Given the description of an element on the screen output the (x, y) to click on. 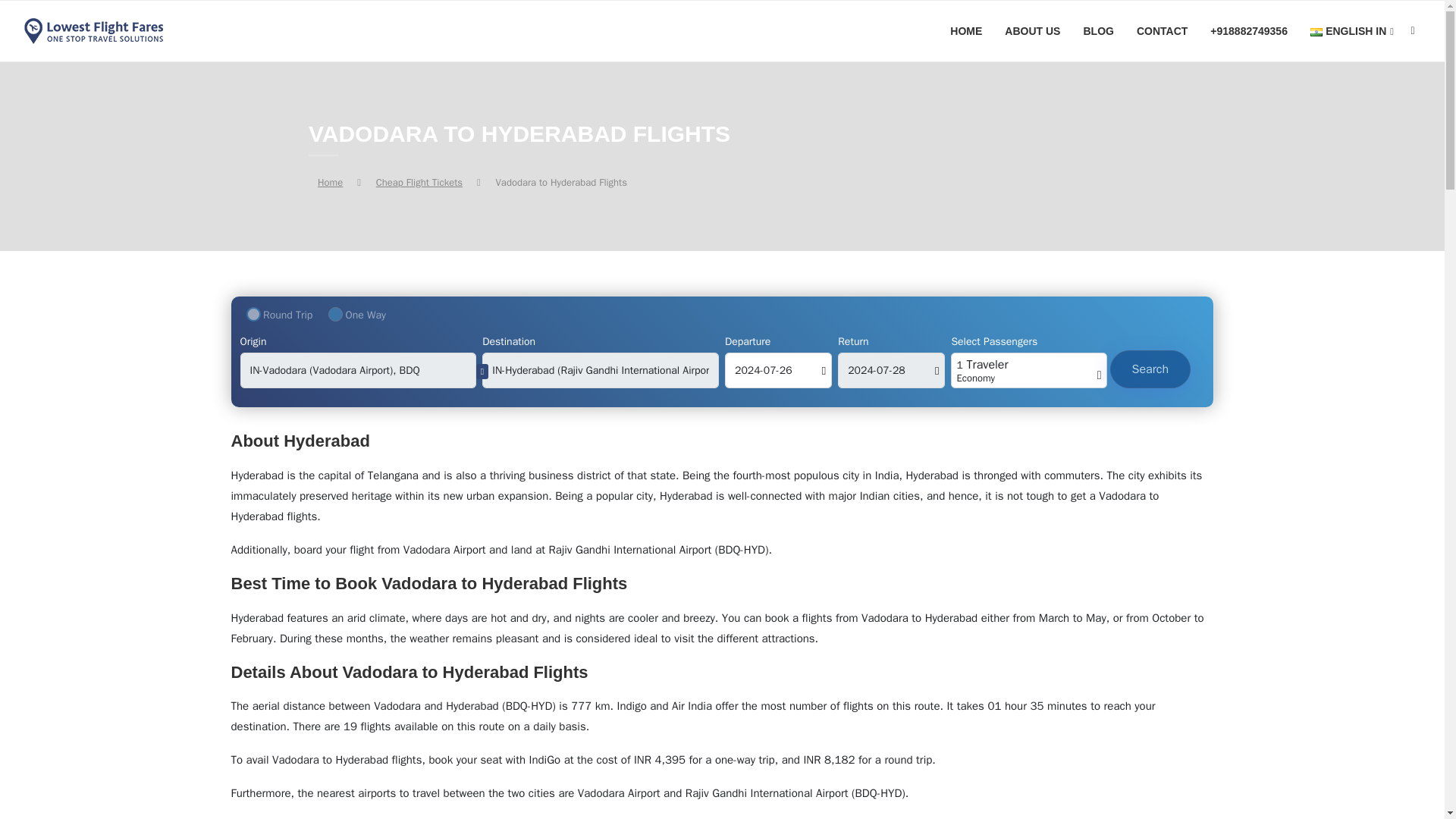
Cheap Flight Tickets (419, 182)
ENGLISH IN (1351, 31)
round (253, 314)
Search (1150, 369)
Home (329, 182)
2024-07-26 (778, 370)
2024-07-28 (891, 370)
ABOUT US (1031, 30)
oneway (335, 314)
